Given the description of an element on the screen output the (x, y) to click on. 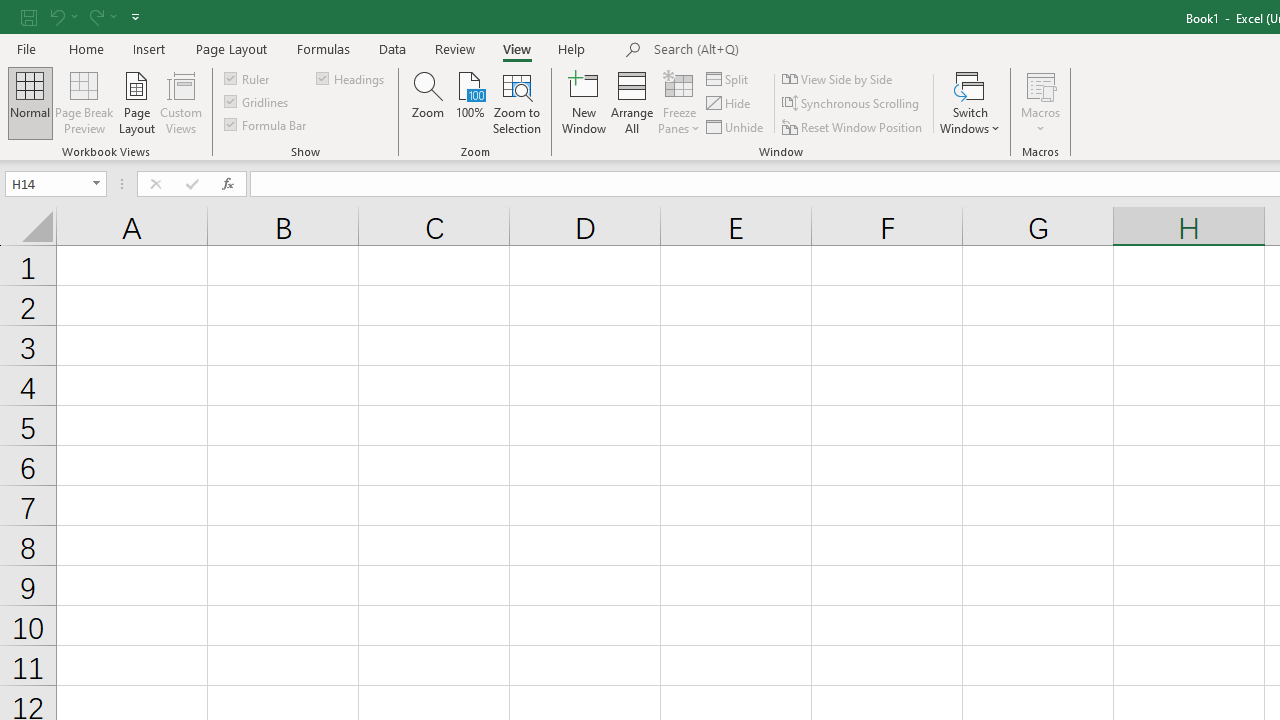
Zoom... (428, 102)
Hide (729, 103)
Macros (1040, 102)
View Macros (1040, 84)
Switch Windows (970, 102)
